Given the description of an element on the screen output the (x, y) to click on. 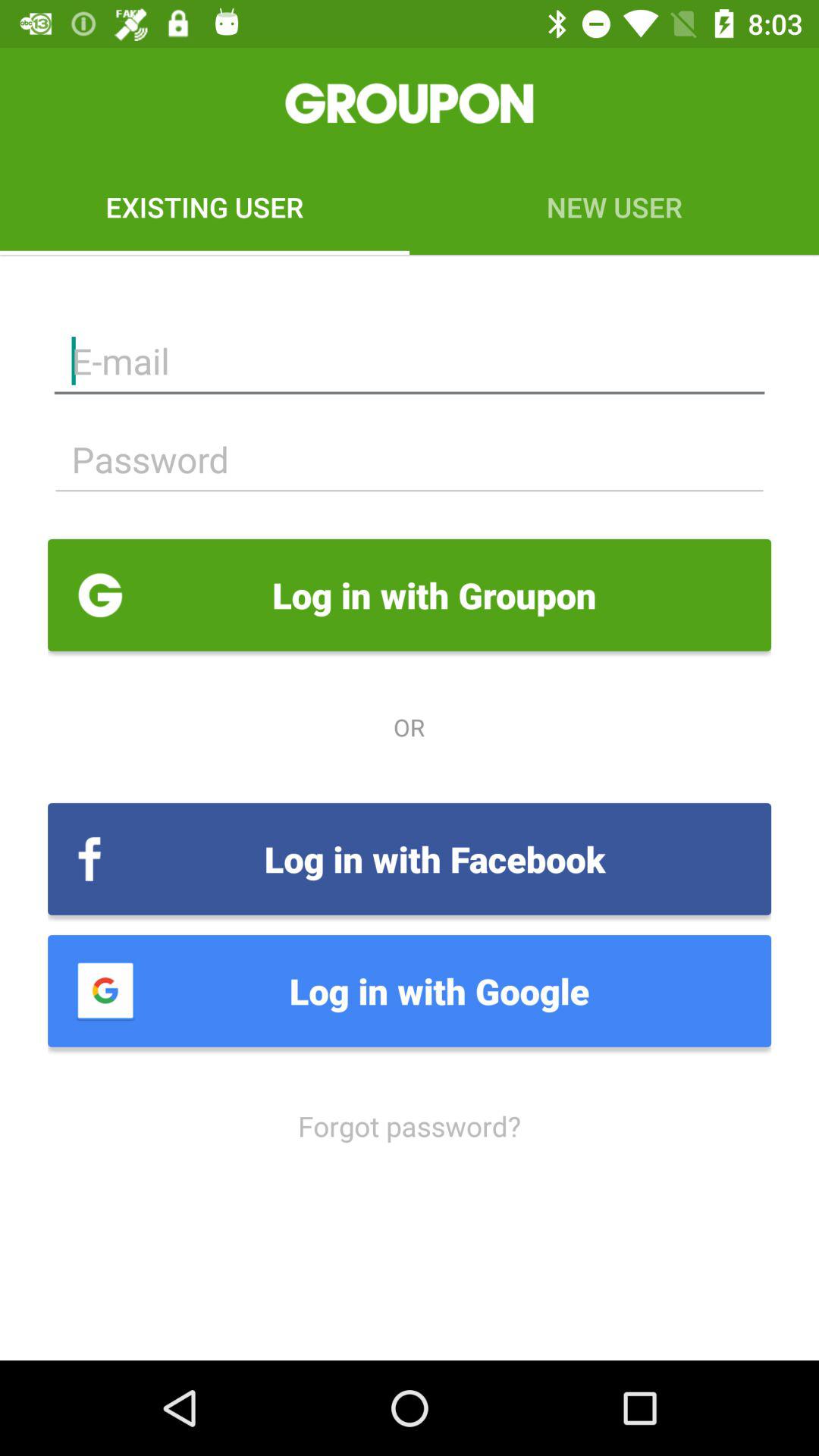
enter password (409, 459)
